Given the description of an element on the screen output the (x, y) to click on. 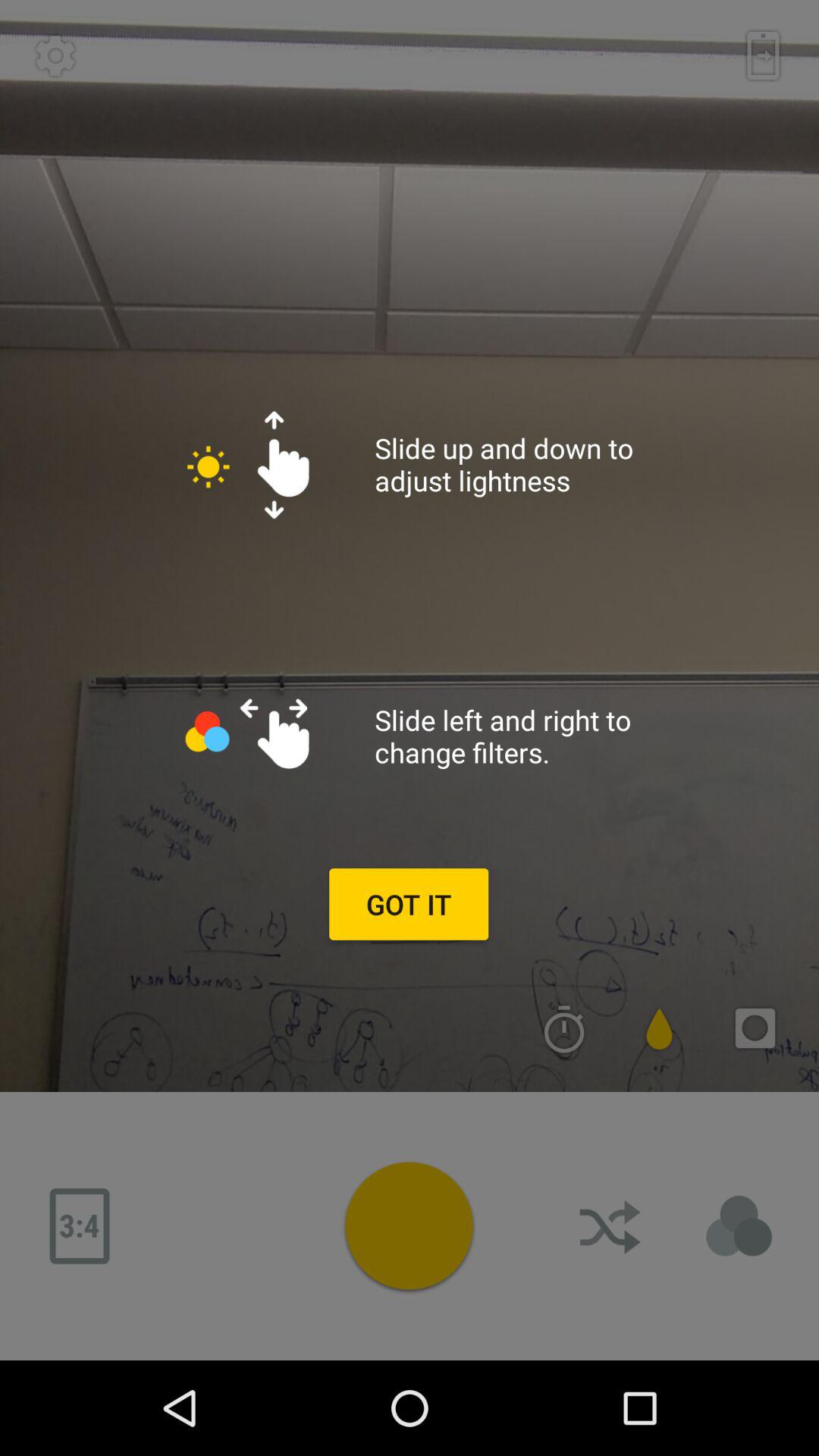
capture (408, 1225)
